Given the description of an element on the screen output the (x, y) to click on. 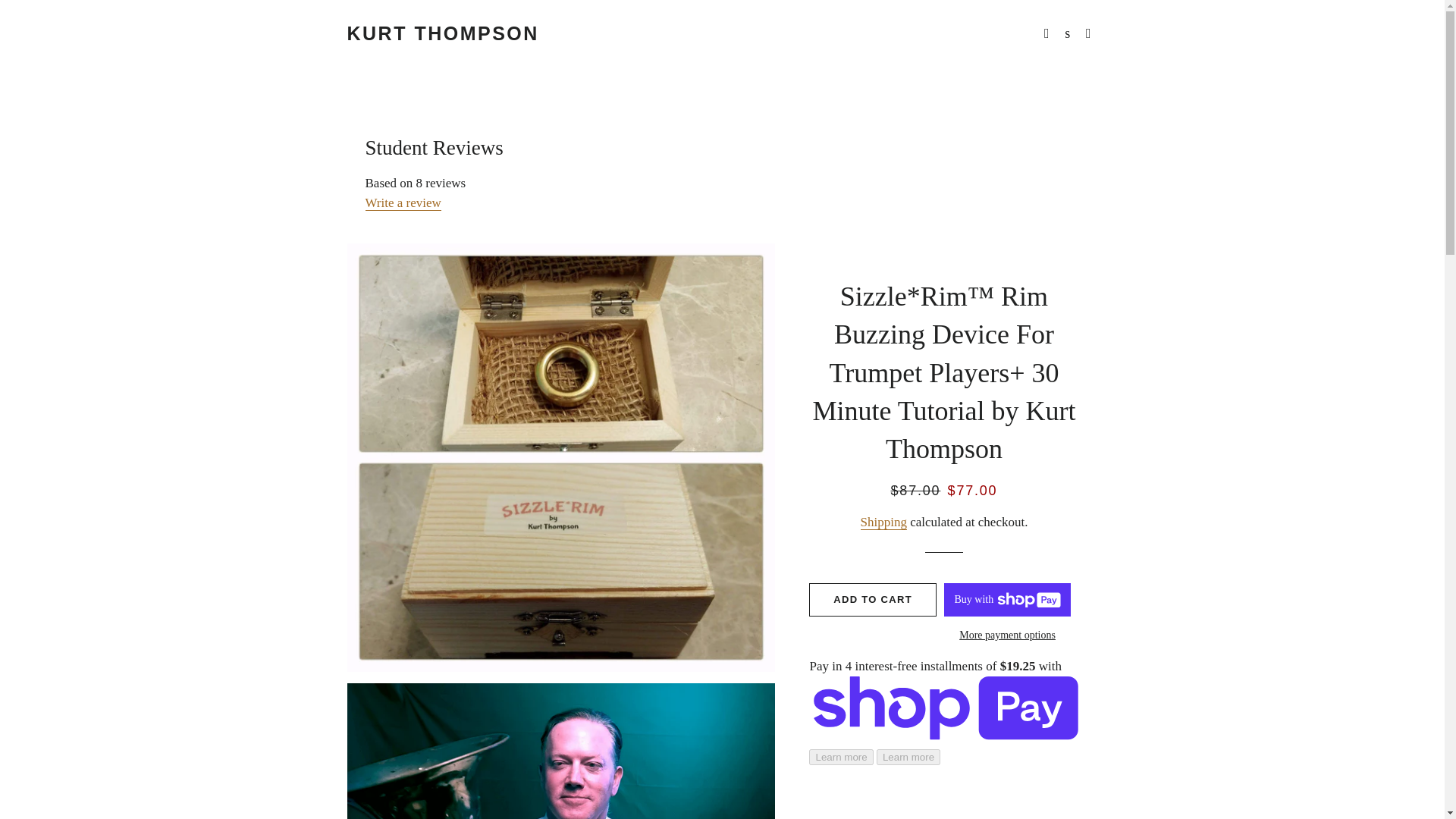
ADD TO CART (872, 599)
Write a review (403, 202)
More payment options (1007, 635)
KURT THOMPSON (442, 33)
Shipping (882, 522)
